Given the description of an element on the screen output the (x, y) to click on. 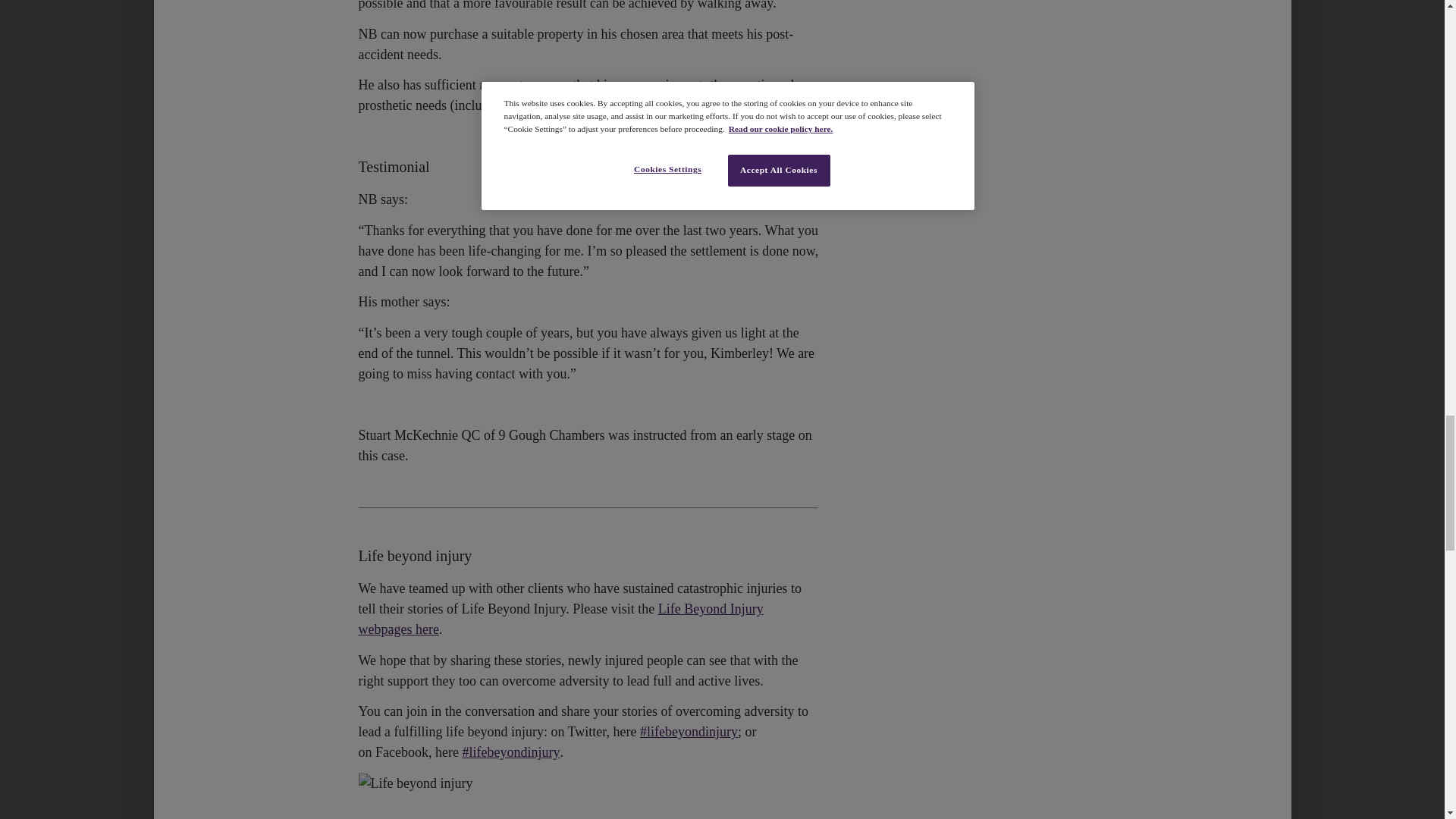
Life Beyond Injury on Twitter (689, 731)
Life Beyond Injury facebook (510, 752)
